Given the description of an element on the screen output the (x, y) to click on. 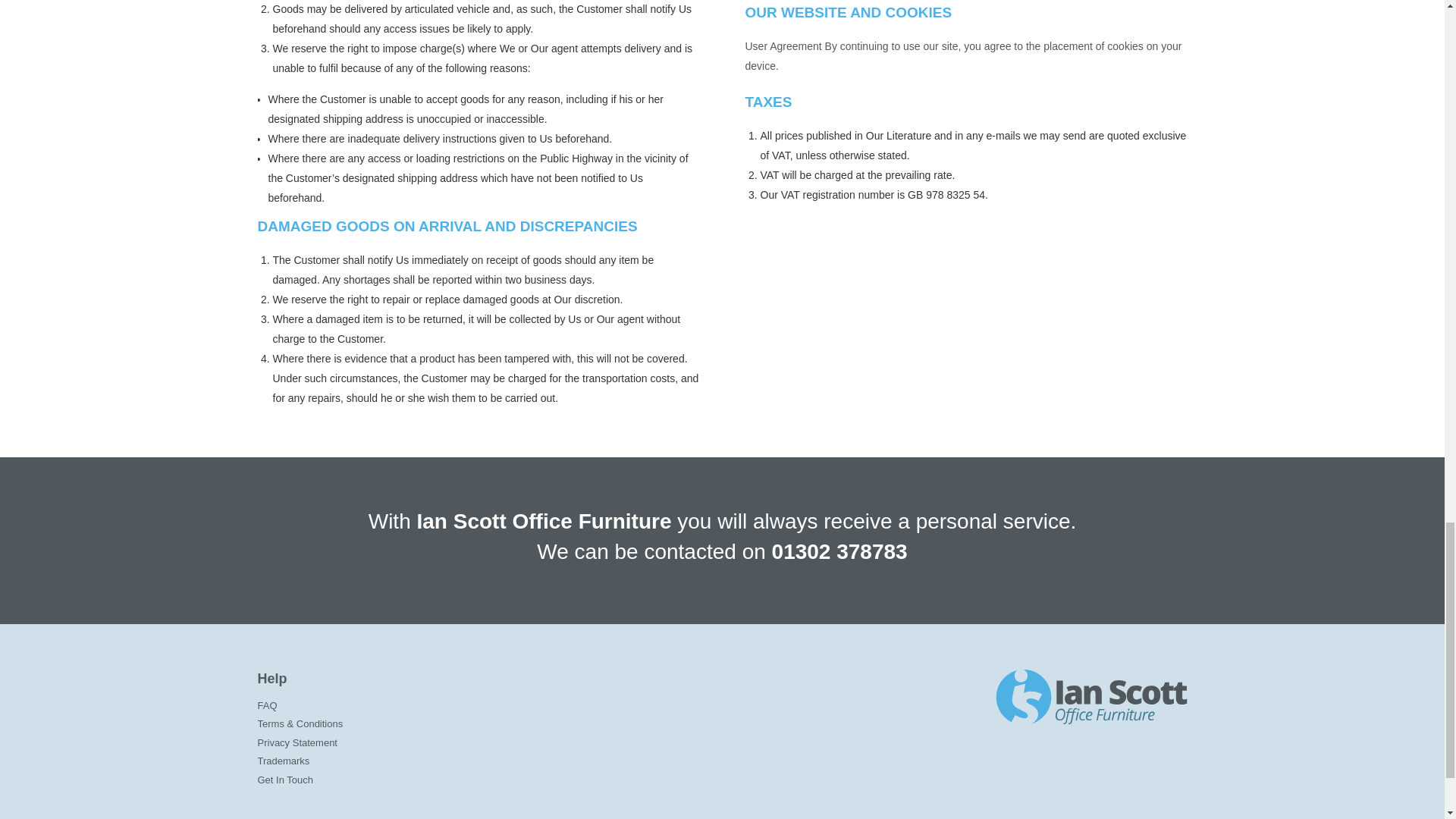
Trademarks (412, 761)
Privacy Statement (412, 742)
FAQ (412, 705)
Get In Touch (412, 780)
